Given the description of an element on the screen output the (x, y) to click on. 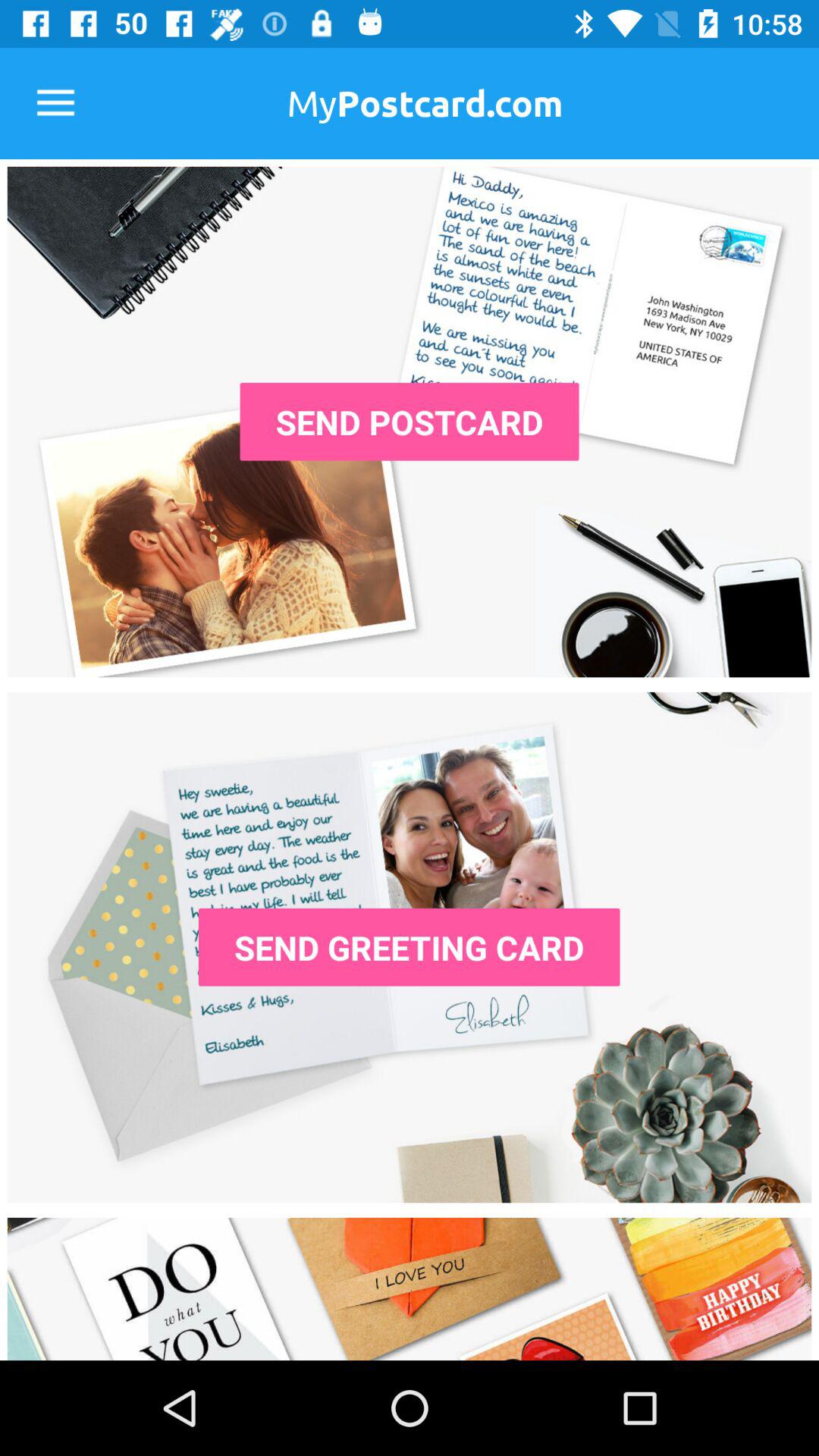
click the item at the top left corner (55, 103)
